Given the description of an element on the screen output the (x, y) to click on. 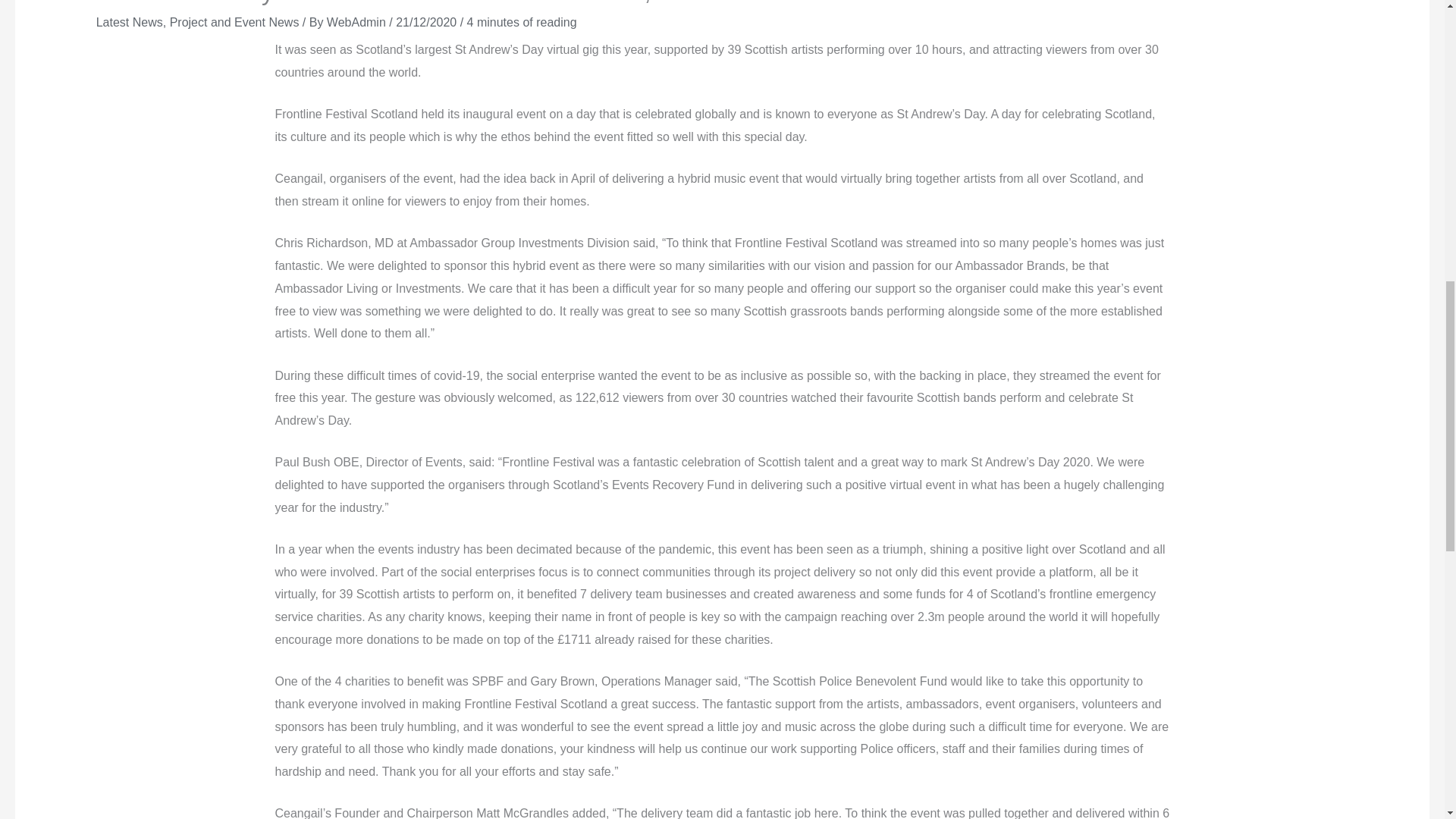
View all posts by WebAdmin (357, 21)
Project and Event News (234, 21)
WebAdmin (357, 21)
Latest News (129, 21)
